Given the description of an element on the screen output the (x, y) to click on. 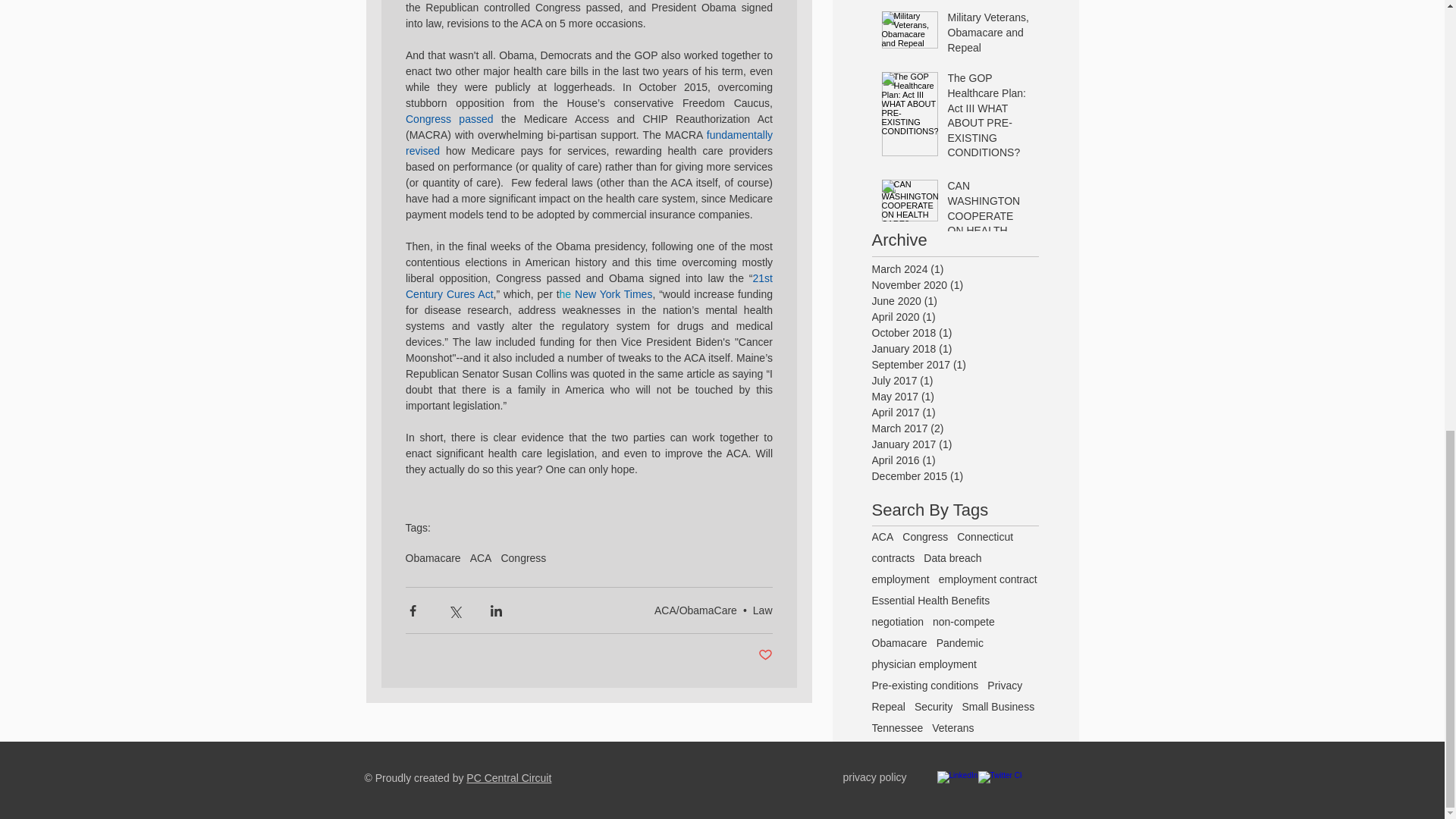
Law (762, 610)
fundamentally revised (589, 141)
Post not marked as liked (765, 655)
Obamacare (432, 558)
he  (566, 293)
ACA (481, 558)
Congress passed (448, 118)
New York Times (613, 293)
21st Century Cures Act (589, 285)
Congress (523, 558)
